Given the description of an element on the screen output the (x, y) to click on. 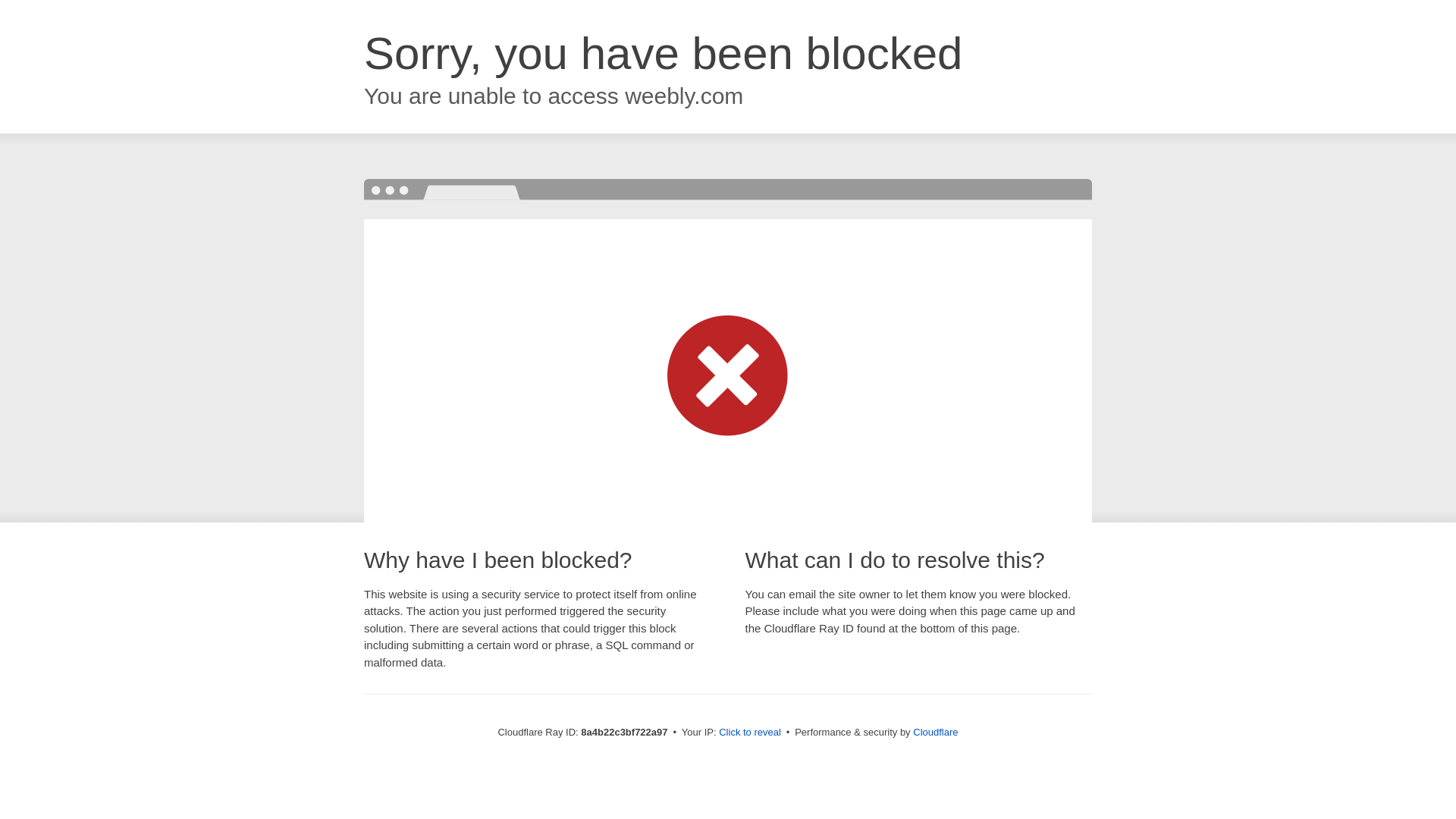
Cloudflare (935, 731)
Click to reveal (749, 732)
